Given the description of an element on the screen output the (x, y) to click on. 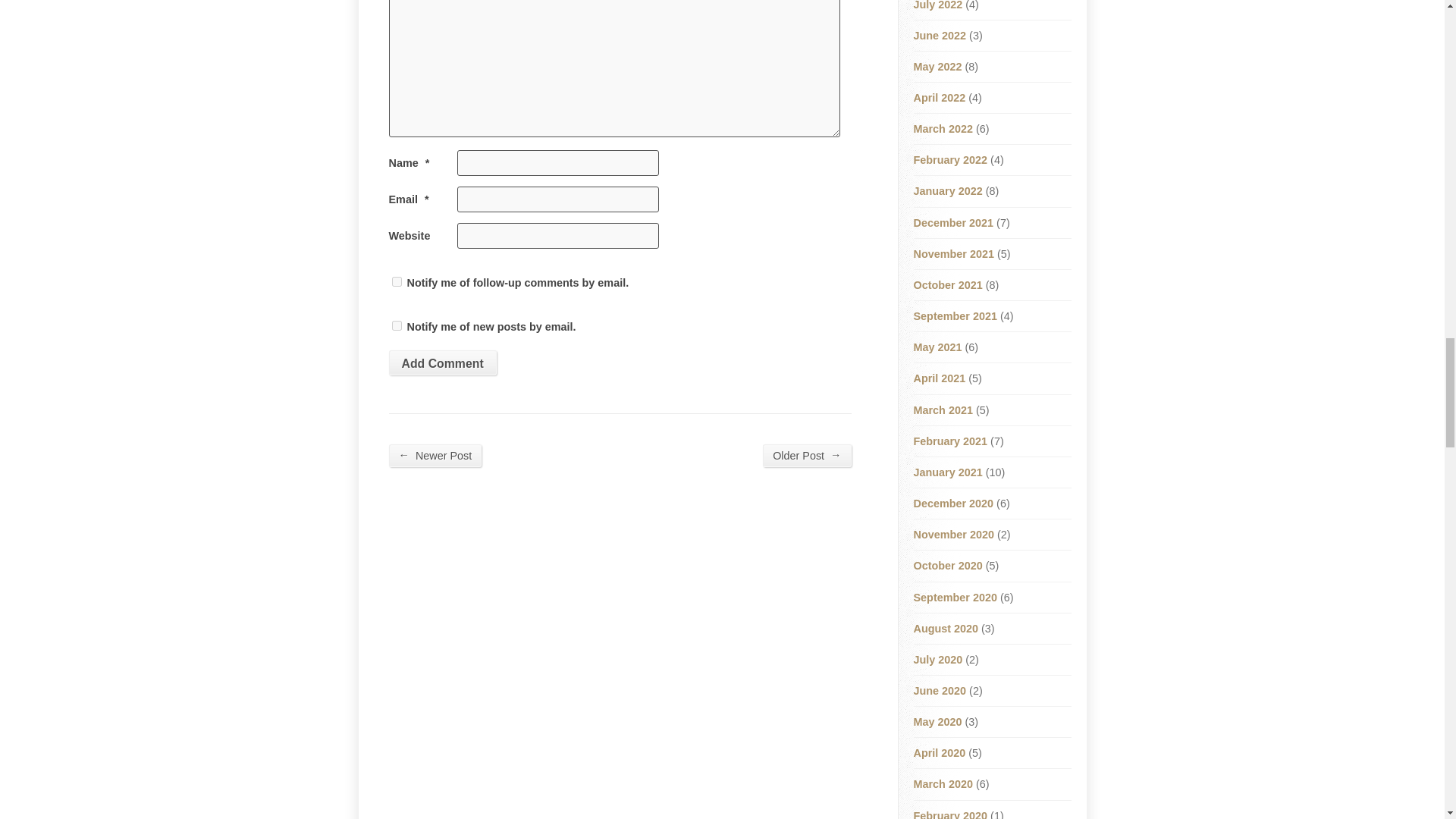
subscribe (396, 281)
Add Comment (442, 362)
Add Comment (442, 362)
subscribe (396, 325)
